Given the description of an element on the screen output the (x, y) to click on. 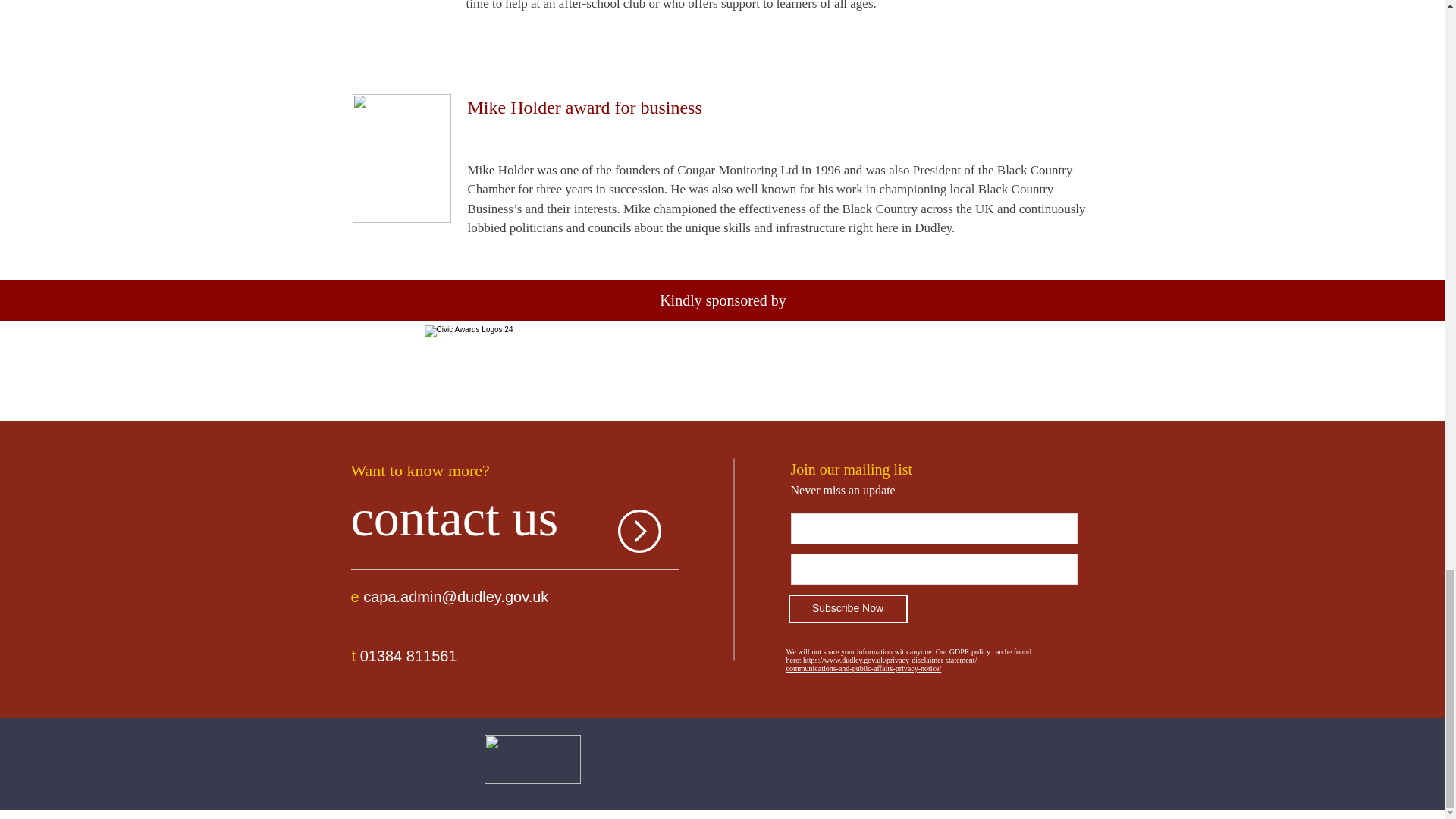
Subscribe Now (848, 608)
Civic Awards Logos (722, 372)
